Given the description of an element on the screen output the (x, y) to click on. 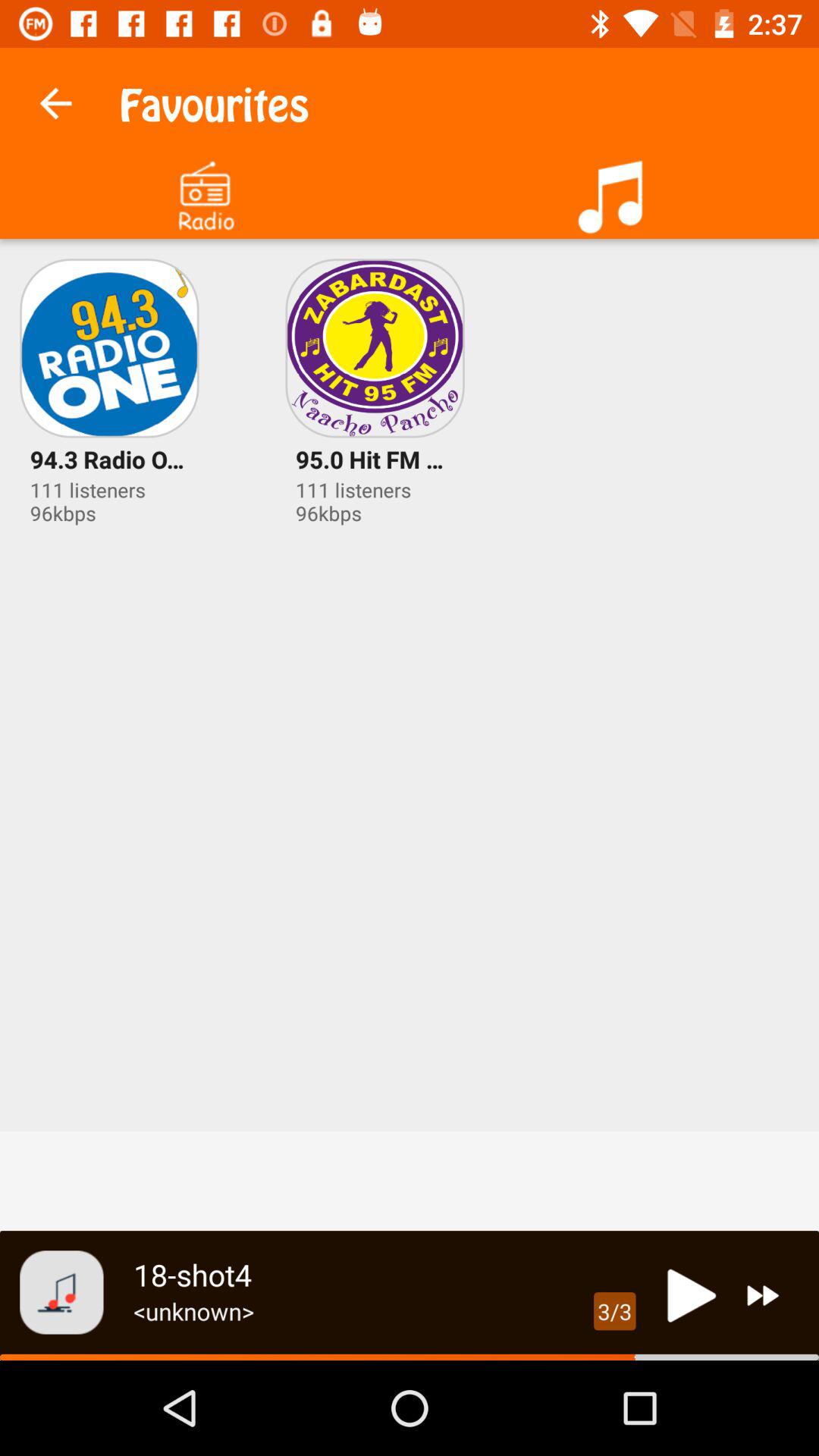
more music option (614, 190)
